Given the description of an element on the screen output the (x, y) to click on. 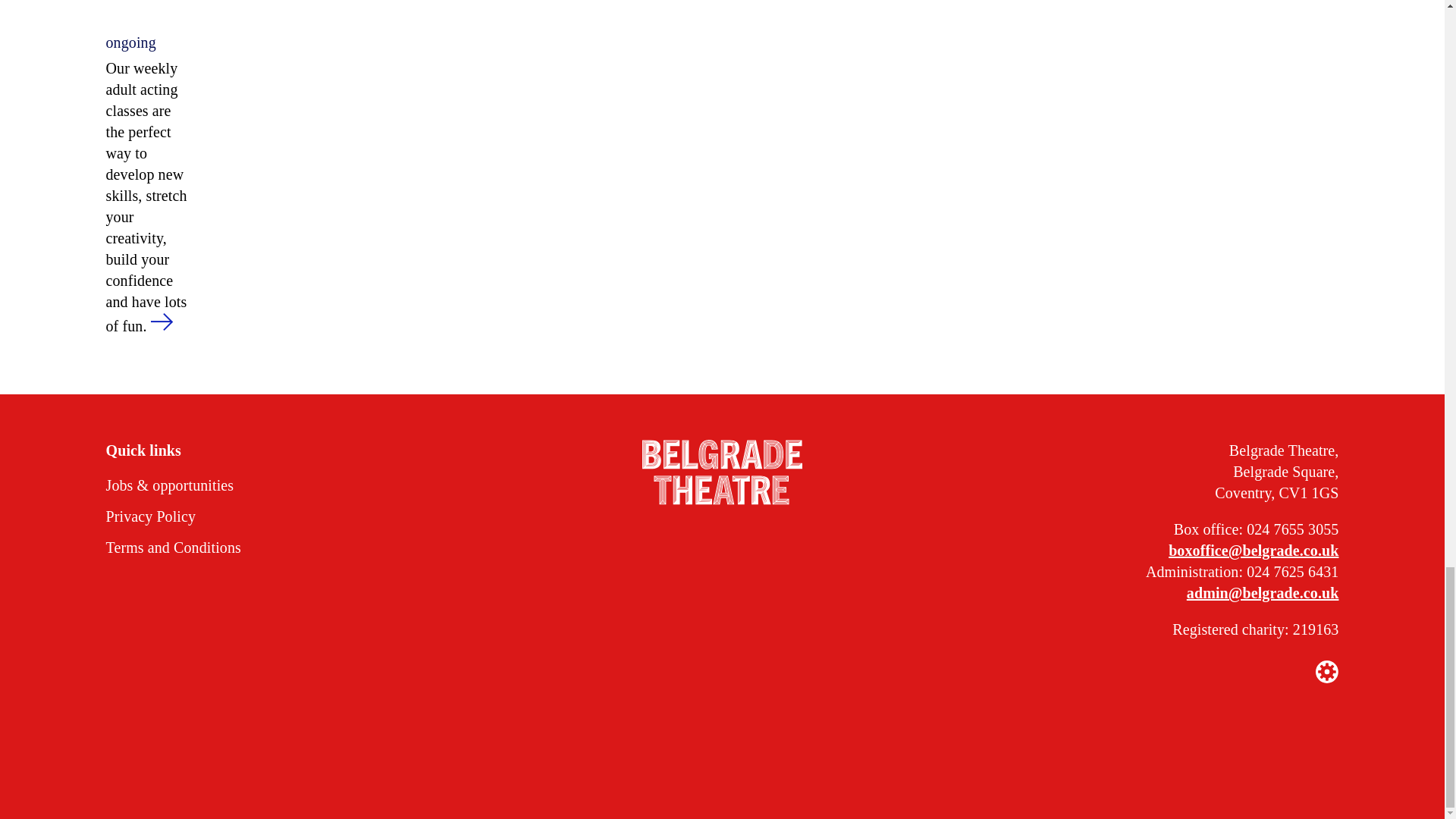
Select this link to visit this supporter's website (690, 763)
Select this link to go back to the homepage (722, 474)
Select this link to visit this supporter's website (530, 763)
Select this link to visit this supporter's website (923, 763)
Select this link to visit this supporter's website (788, 763)
